Given the description of an element on the screen output the (x, y) to click on. 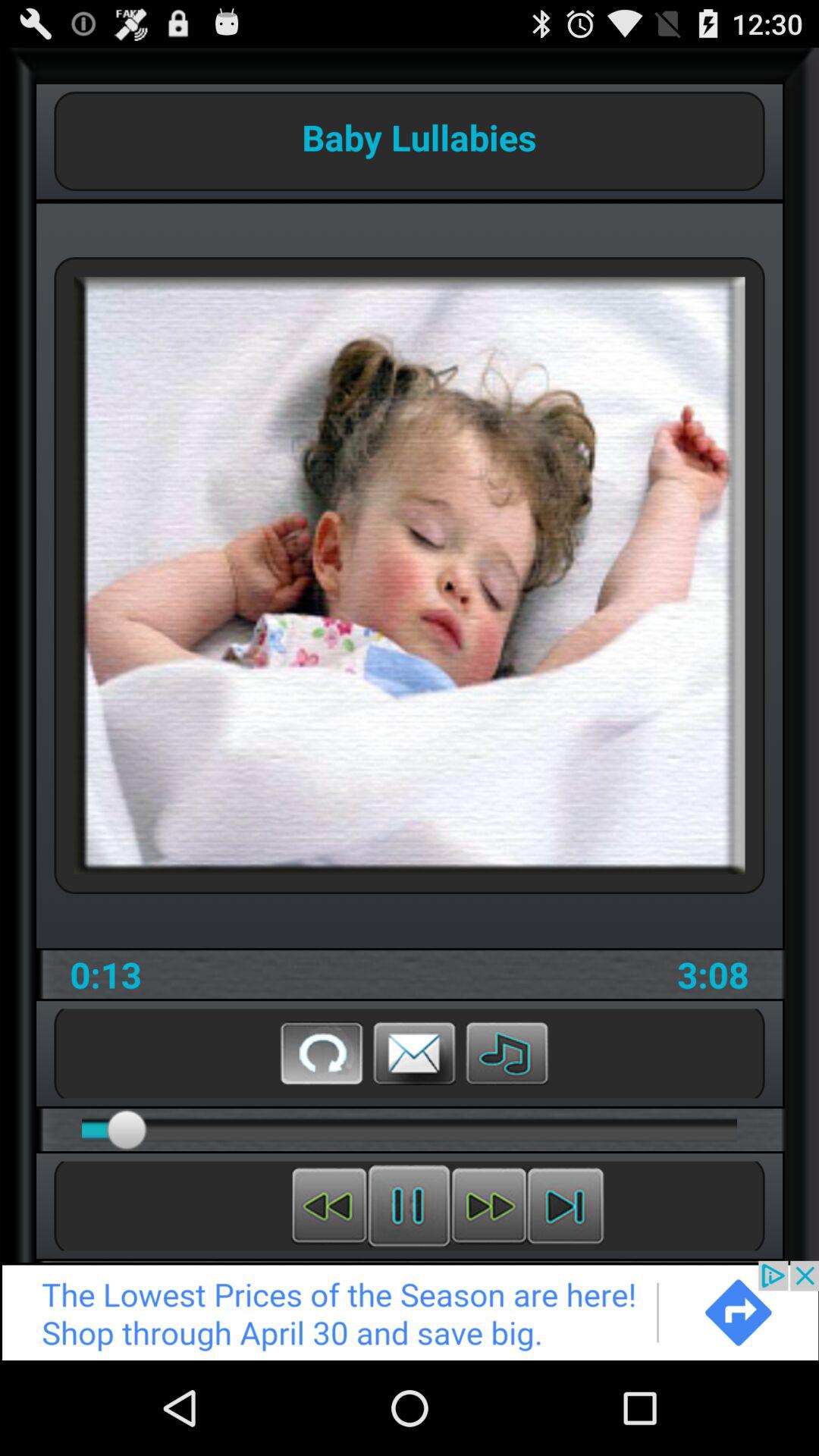
pause lullaby (408, 1205)
